Given the description of an element on the screen output the (x, y) to click on. 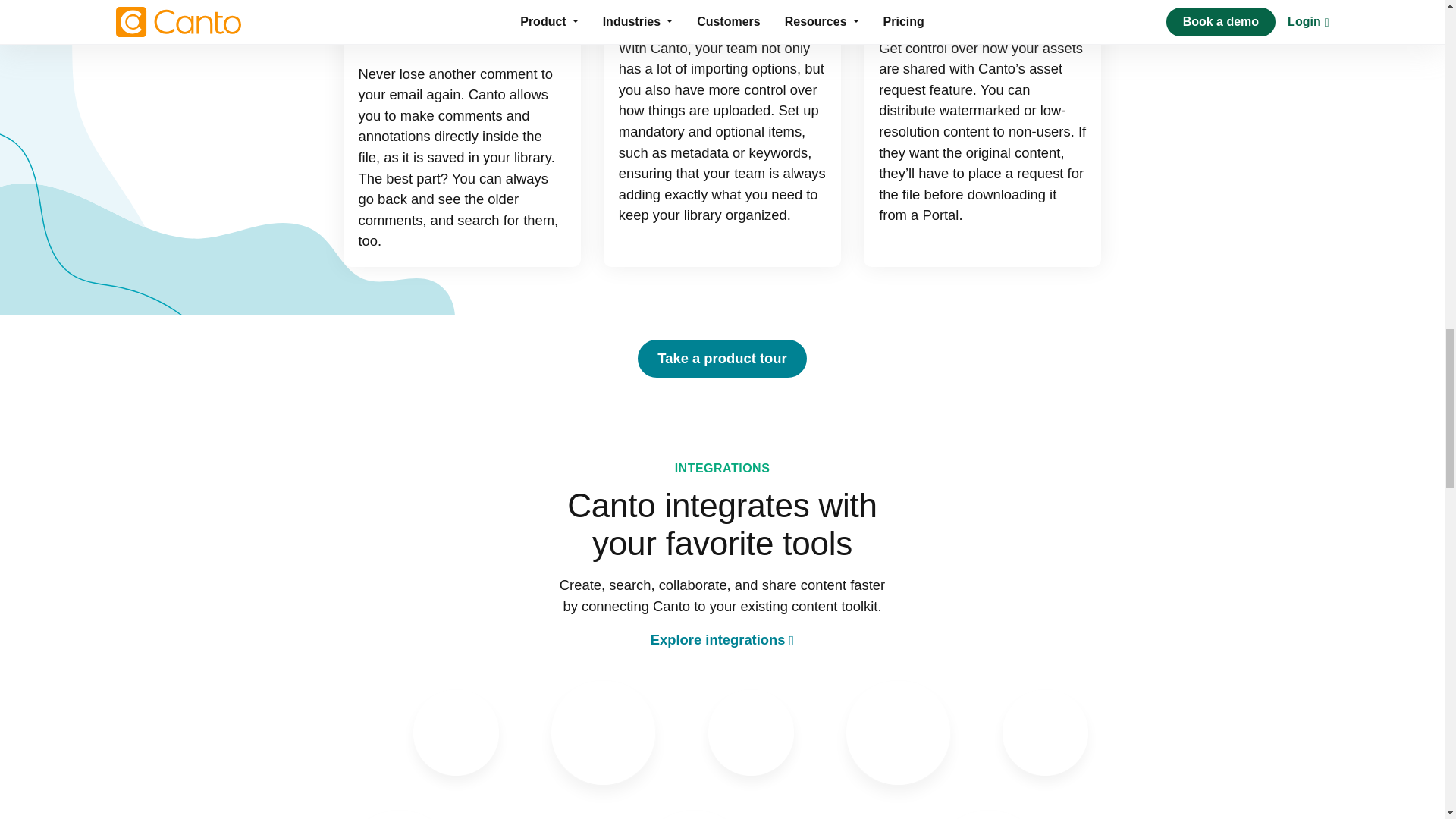
Take a product tour (721, 358)
Explore integrations (722, 639)
